Given the description of an element on the screen output the (x, y) to click on. 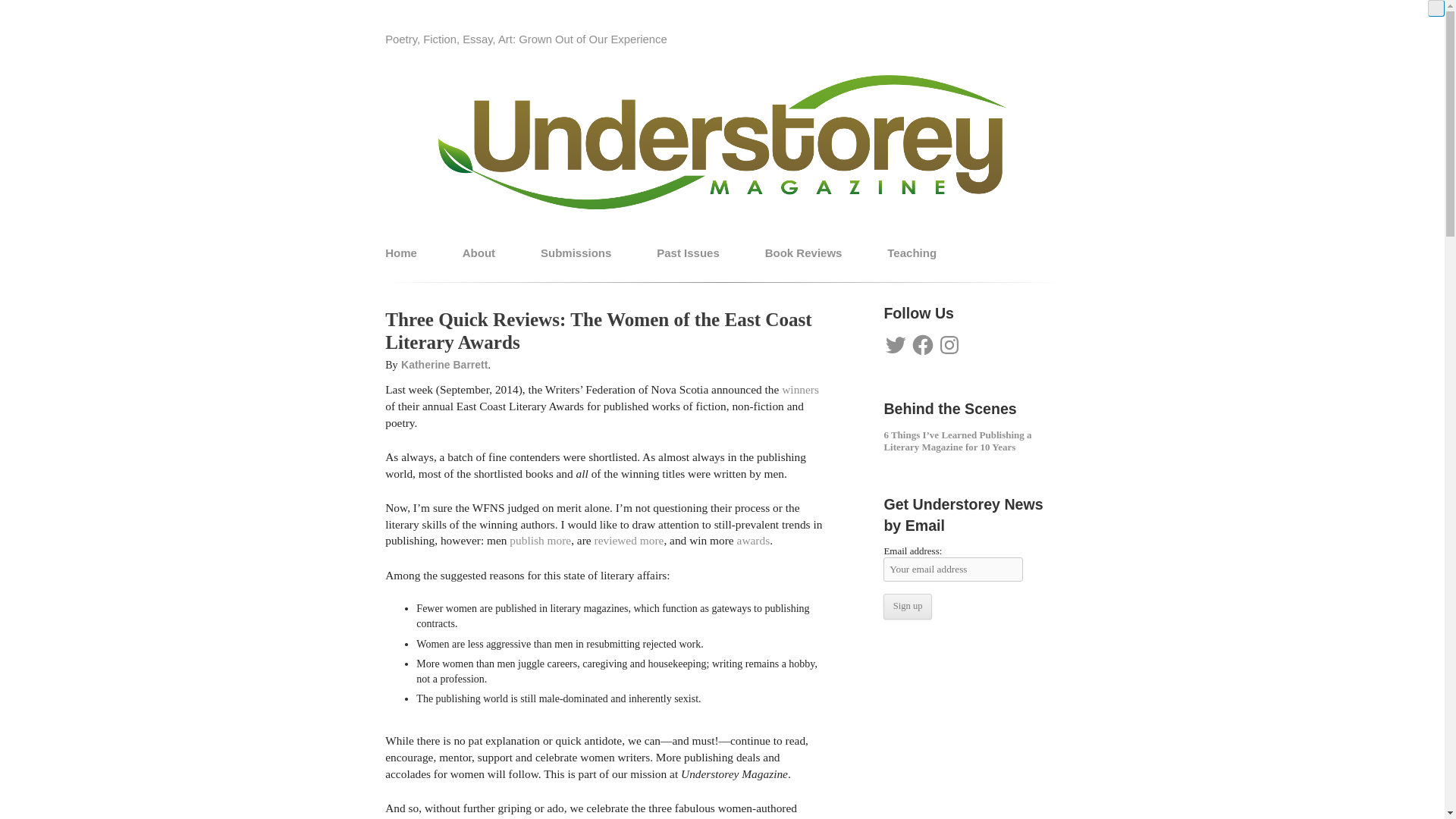
Sign up (907, 606)
Skip to content (762, 237)
publish more (539, 540)
Submissions (575, 252)
Home (400, 252)
Facebook (922, 344)
Instagram (948, 344)
Twitter (895, 344)
reviewed more (628, 540)
Sign up (907, 606)
Katherine Barrett (444, 364)
Teaching (911, 252)
awards (753, 540)
About (479, 252)
winners (799, 389)
